Given the description of an element on the screen output the (x, y) to click on. 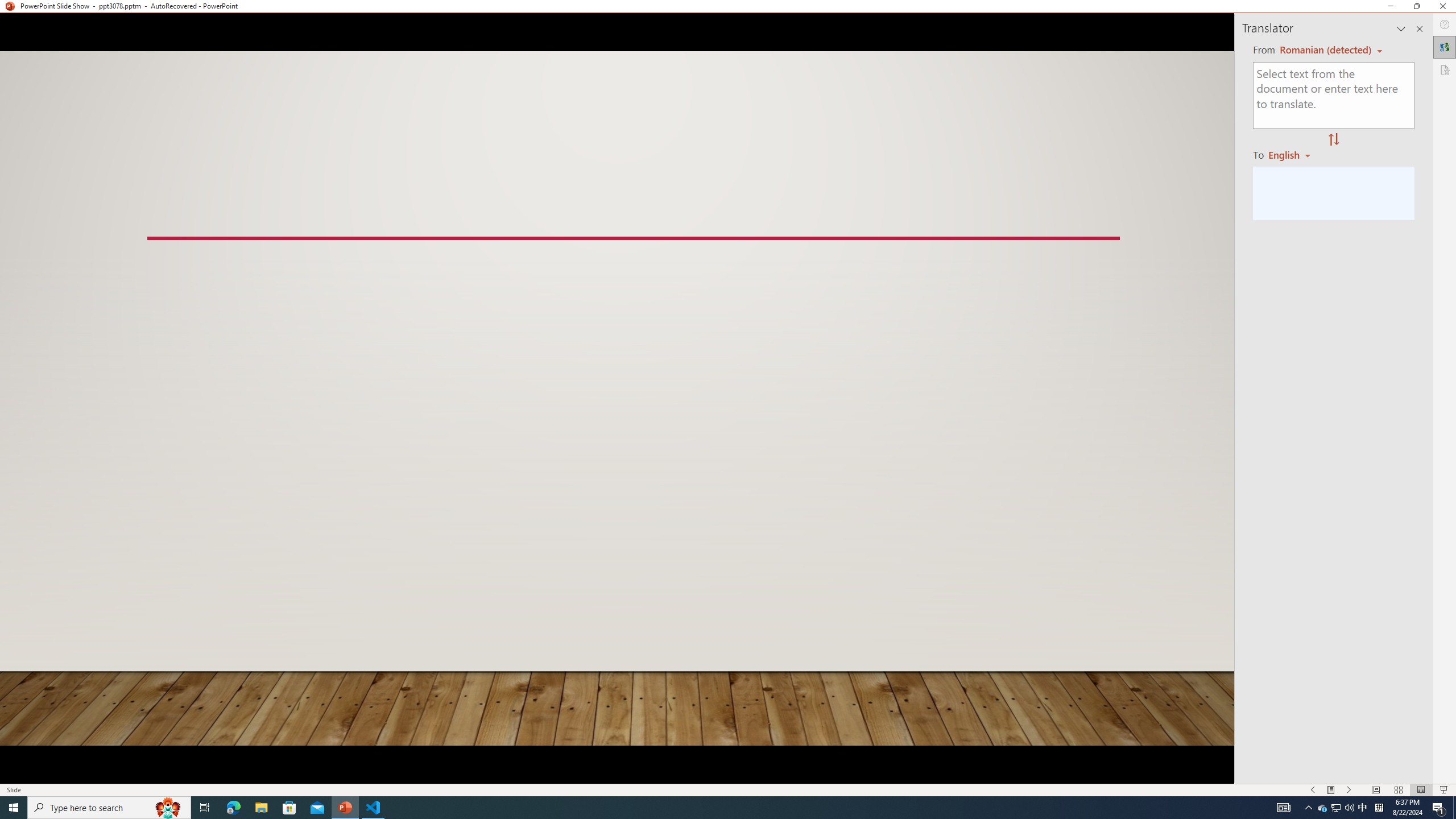
Task Pane Options (1400, 29)
Slide Show Next On (1349, 790)
Help (1444, 24)
Translator (1444, 47)
Accessibility (1444, 69)
